Given the description of an element on the screen output the (x, y) to click on. 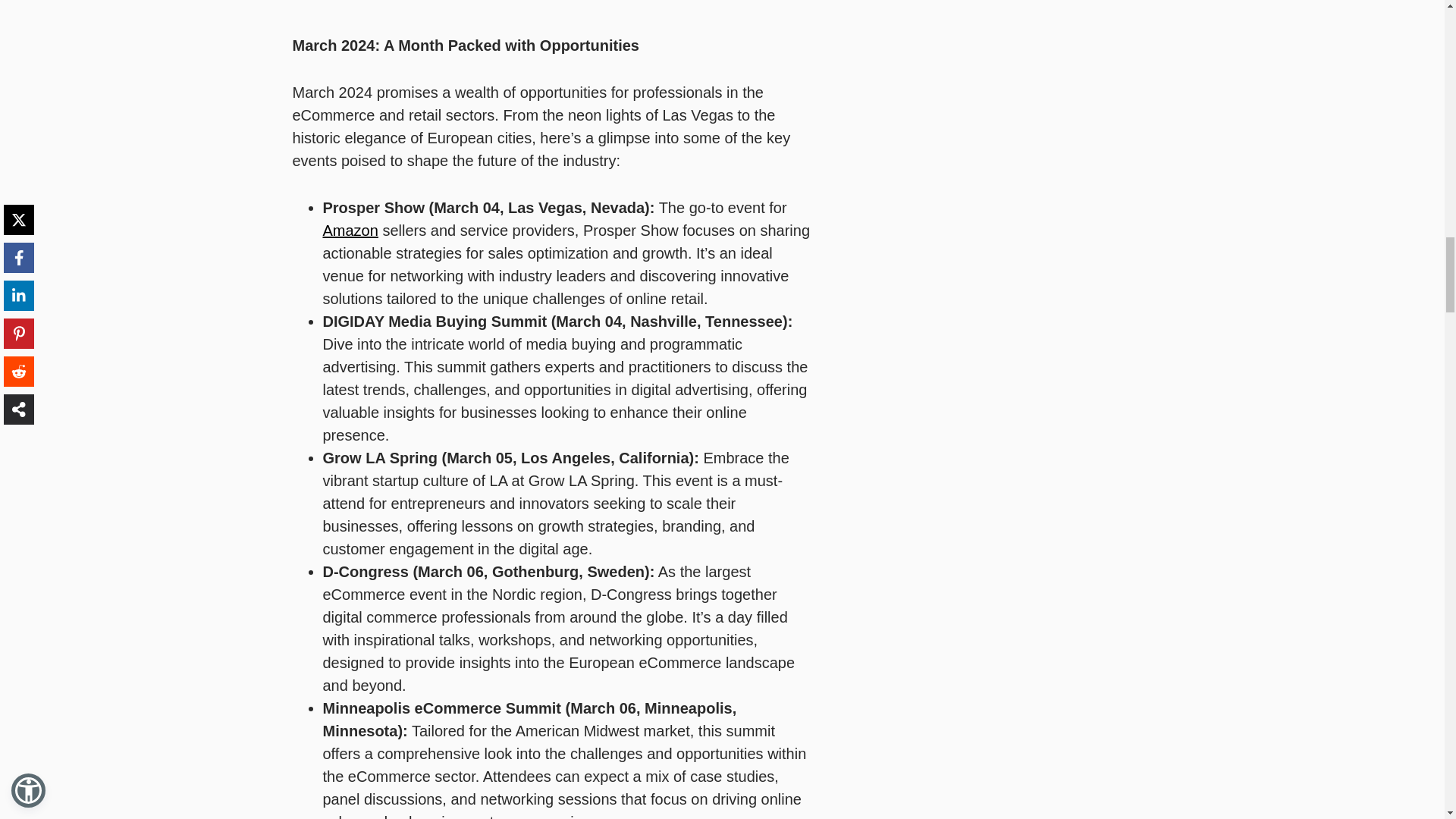
Amazon (350, 230)
